Given the description of an element on the screen output the (x, y) to click on. 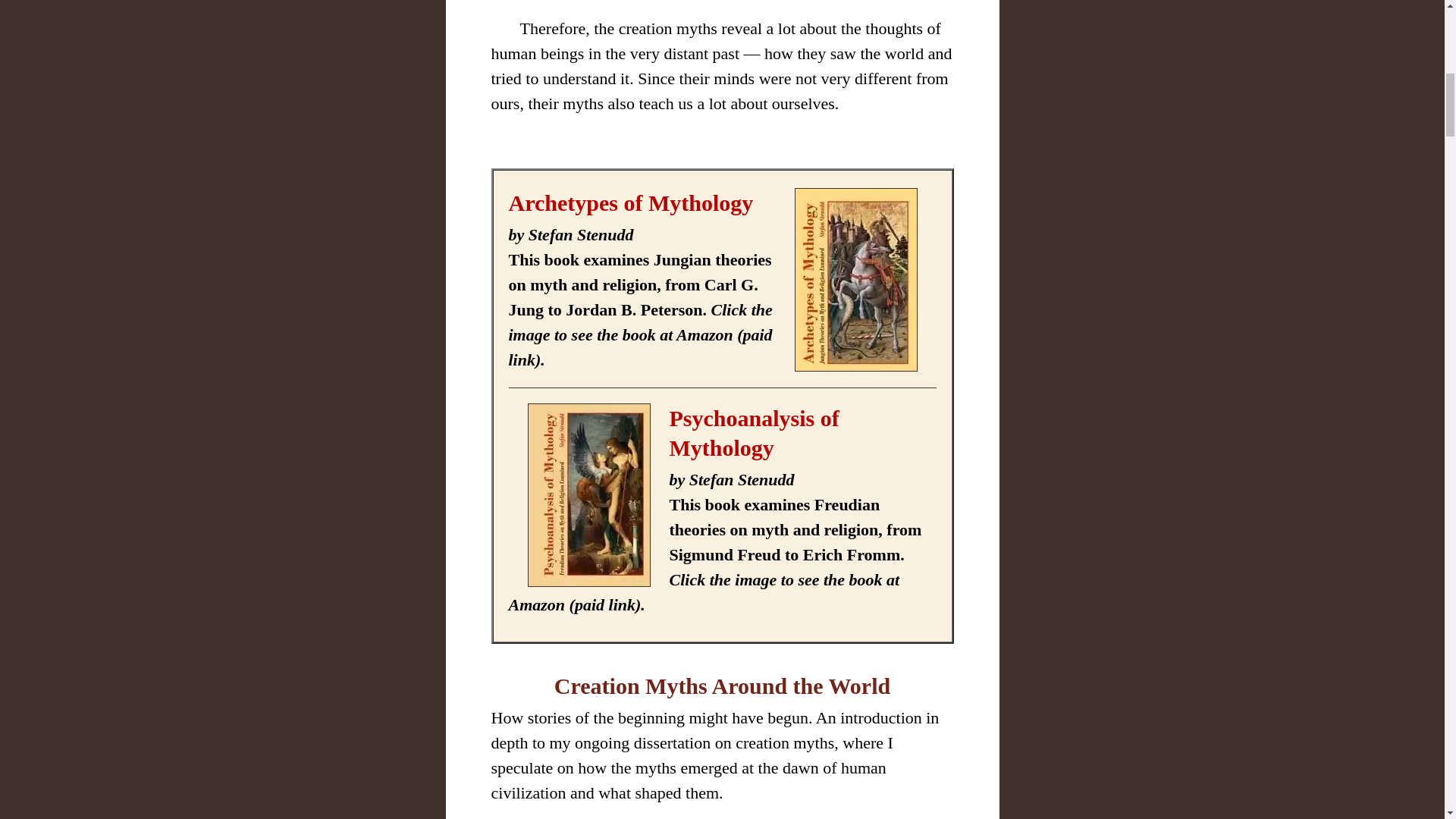
Psychoanalysis of Mythology (753, 432)
Archetypes of Mythology (630, 202)
Creation Myths Around the World (721, 685)
